Given the description of an element on the screen output the (x, y) to click on. 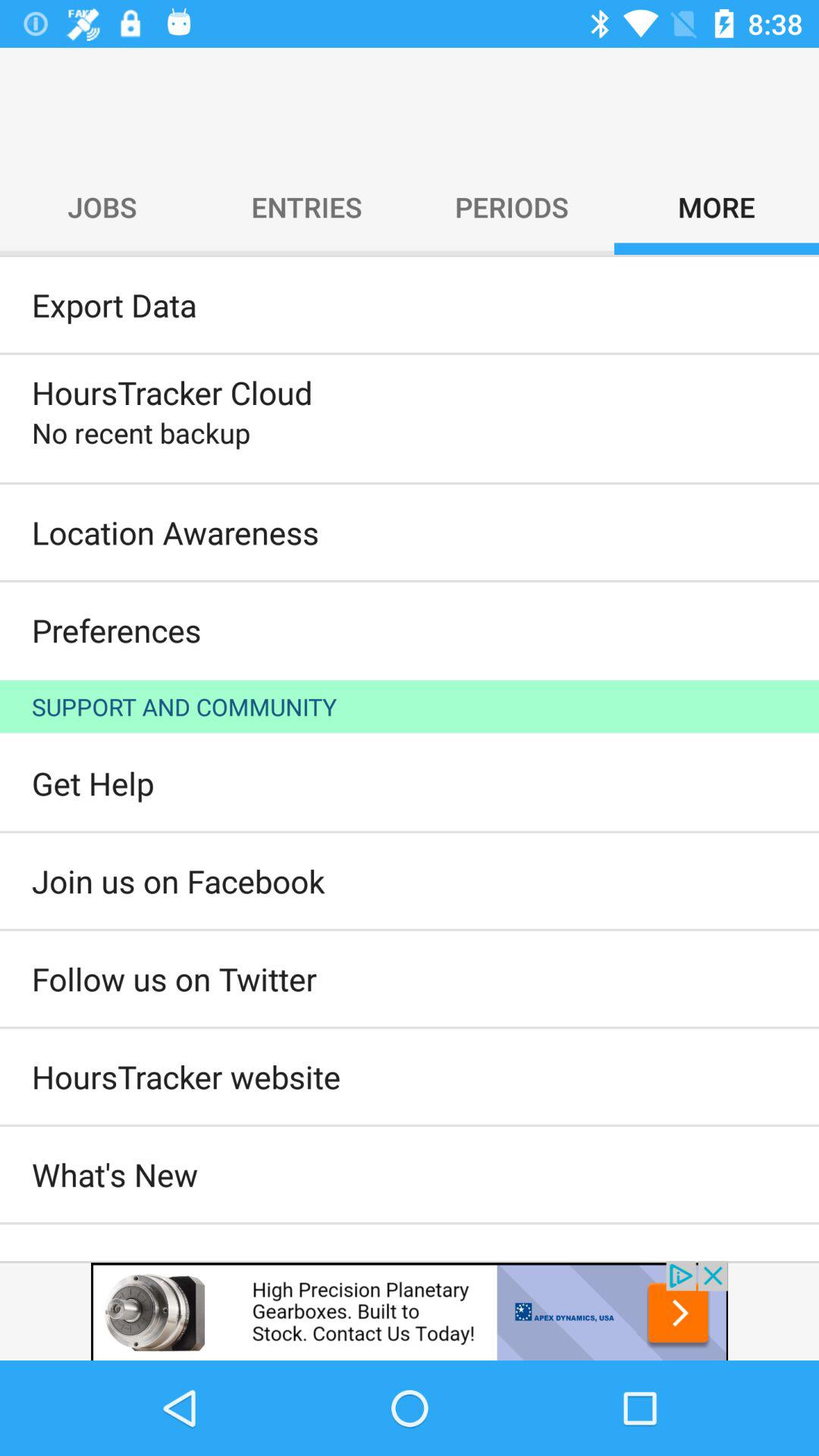
advertisement page (409, 1310)
